Given the description of an element on the screen output the (x, y) to click on. 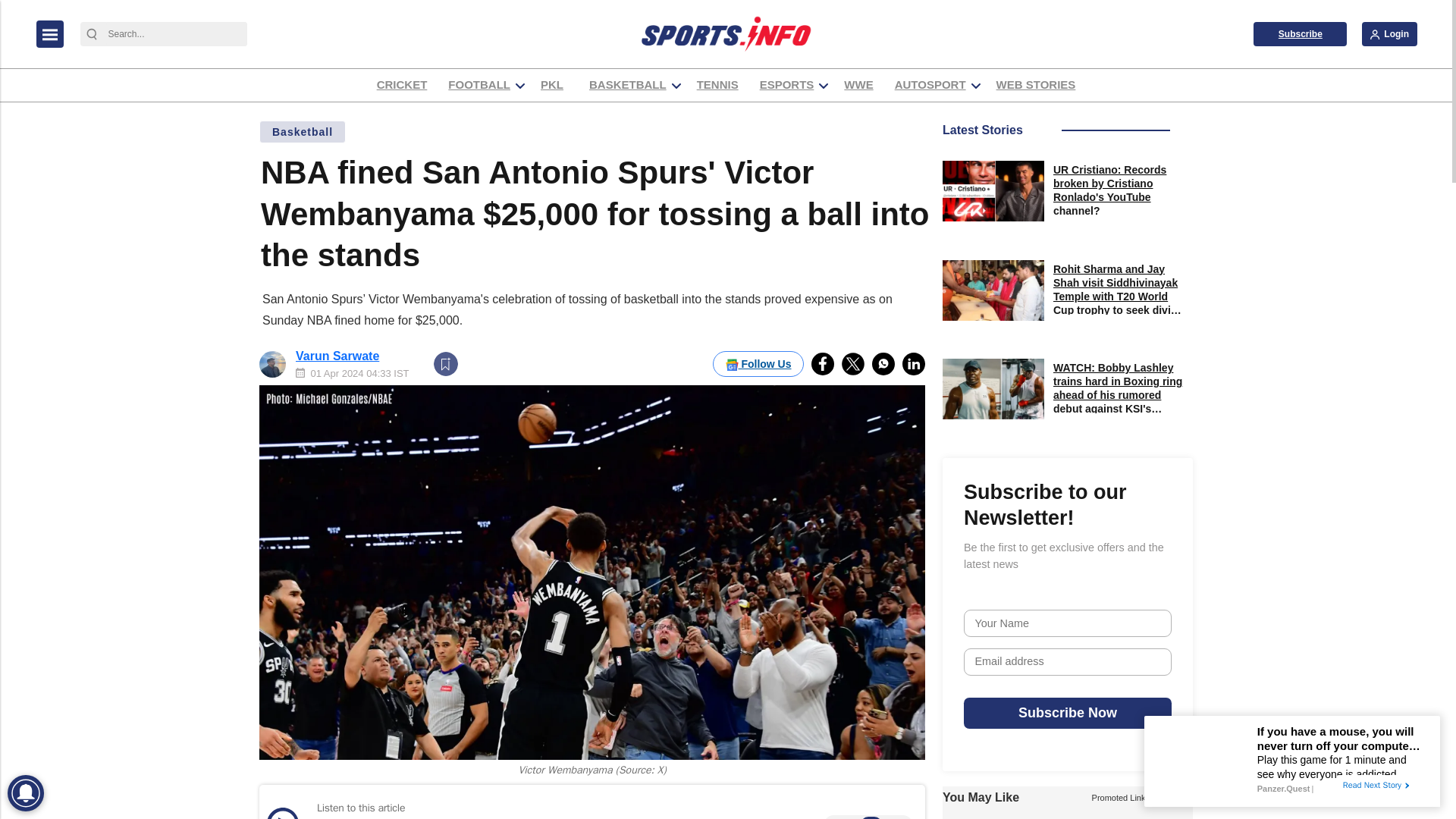
FOOTBALL (478, 84)
WWE (857, 84)
TENNIS (717, 84)
WEB STORIES (1036, 84)
ESPORTS (786, 84)
AUTOSPORT (930, 84)
PKL (554, 84)
CRICKET (401, 84)
BASKETBALL (627, 84)
Subscribe (1299, 33)
